Given the description of an element on the screen output the (x, y) to click on. 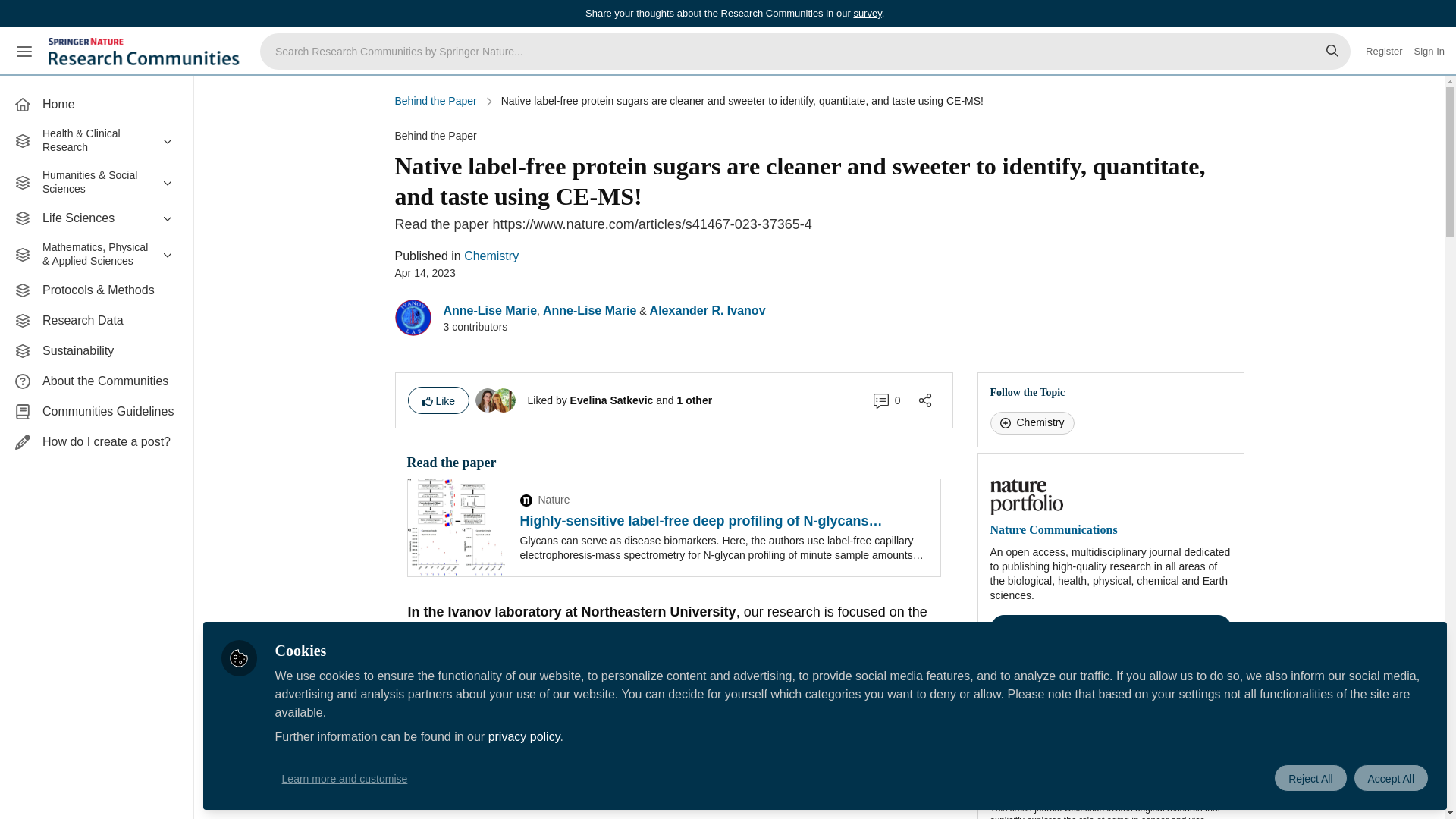
Home (96, 103)
Search (1332, 51)
Life Sciences (96, 217)
Research Communities by Springer Nature (146, 51)
Life Sciences (96, 217)
Home (96, 103)
Menu (24, 51)
survey (866, 12)
